Given the description of an element on the screen output the (x, y) to click on. 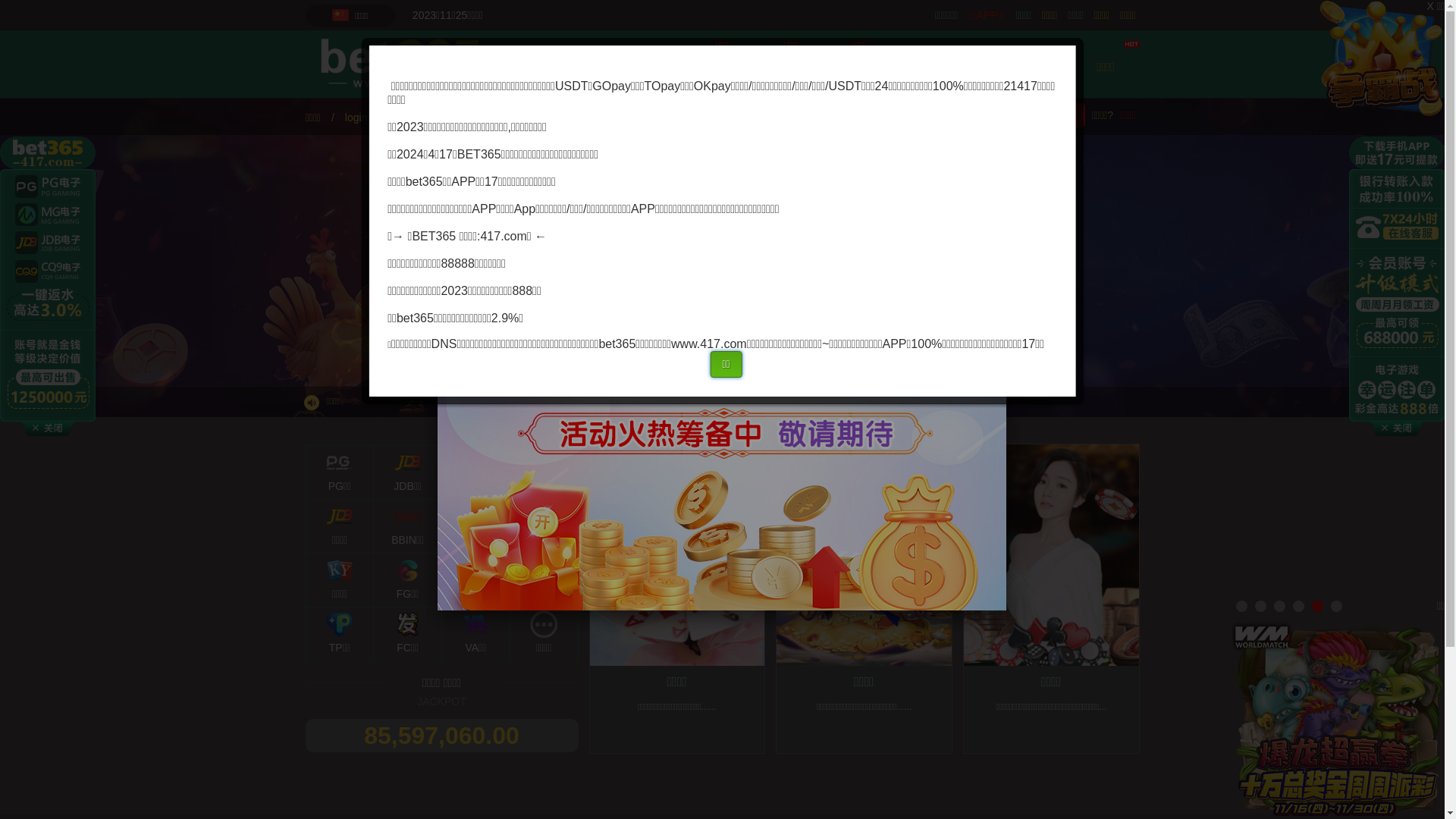
6 Element type: text (1336, 605)
3 Element type: text (1279, 605)
Close Element type: hover (1005, 208)
2 Element type: text (1260, 605)
1 Element type: text (1241, 605)
Reset Focus Element type: text (386, 376)
4 Element type: text (1298, 605)
5 Element type: text (1317, 605)
